Given the description of an element on the screen output the (x, y) to click on. 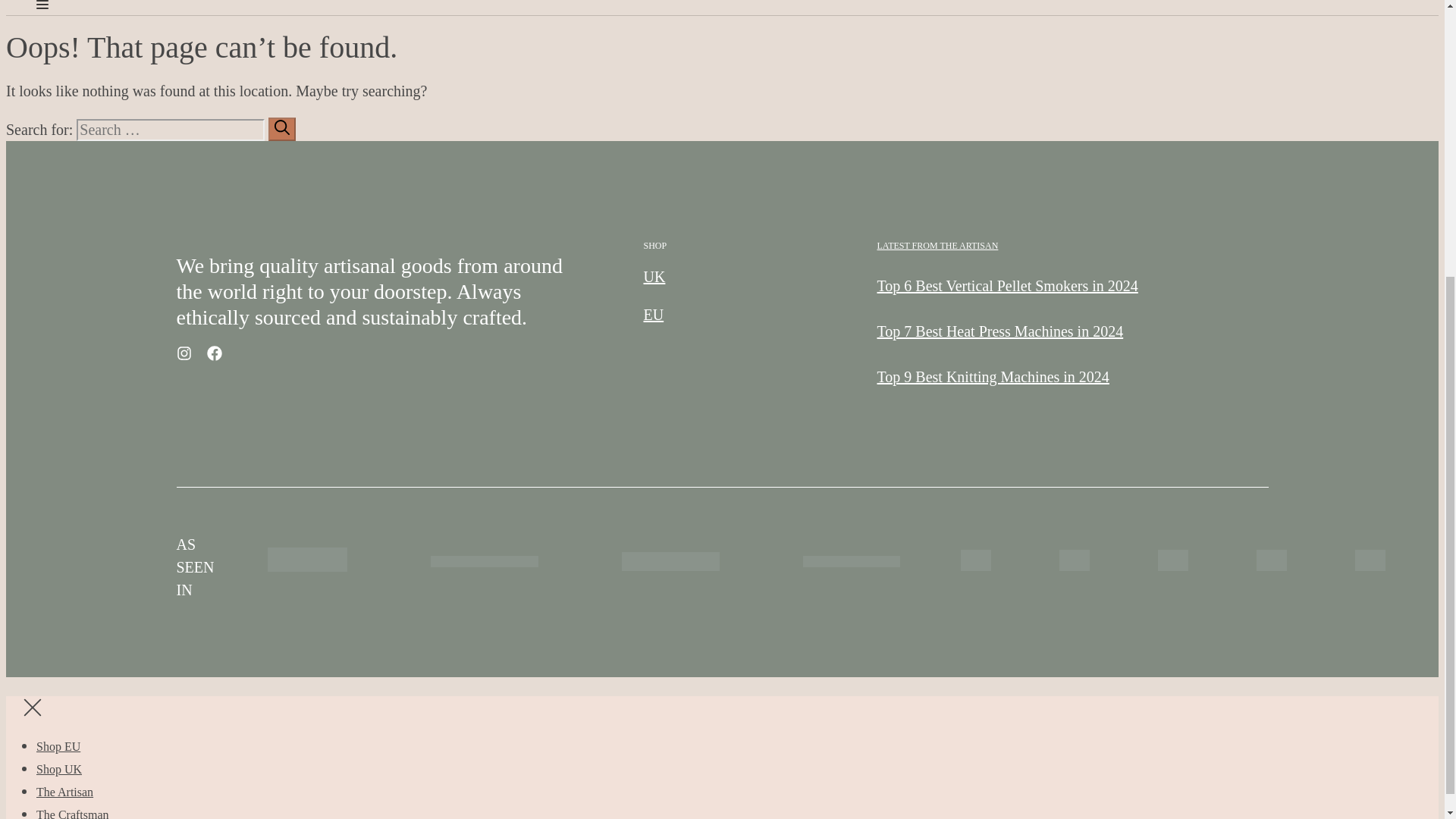
icon-2 (484, 560)
Top 7 Best Heat Press Machines in 2024 (999, 330)
UK (654, 276)
icon-4 (850, 560)
Shop EU (58, 746)
Top 9 Best Knitting Machines in 2024 (992, 376)
Top 6 Best Vertical Pellet Smokers in 2024 (1006, 285)
icon-8 (1172, 559)
icon-6 (1369, 559)
Shop UK (58, 768)
LATEST FROM THE ARTISAN (936, 245)
icon-7 (1270, 559)
EU (653, 314)
The Artisan (64, 791)
Search for: (170, 129)
